Given the description of an element on the screen output the (x, y) to click on. 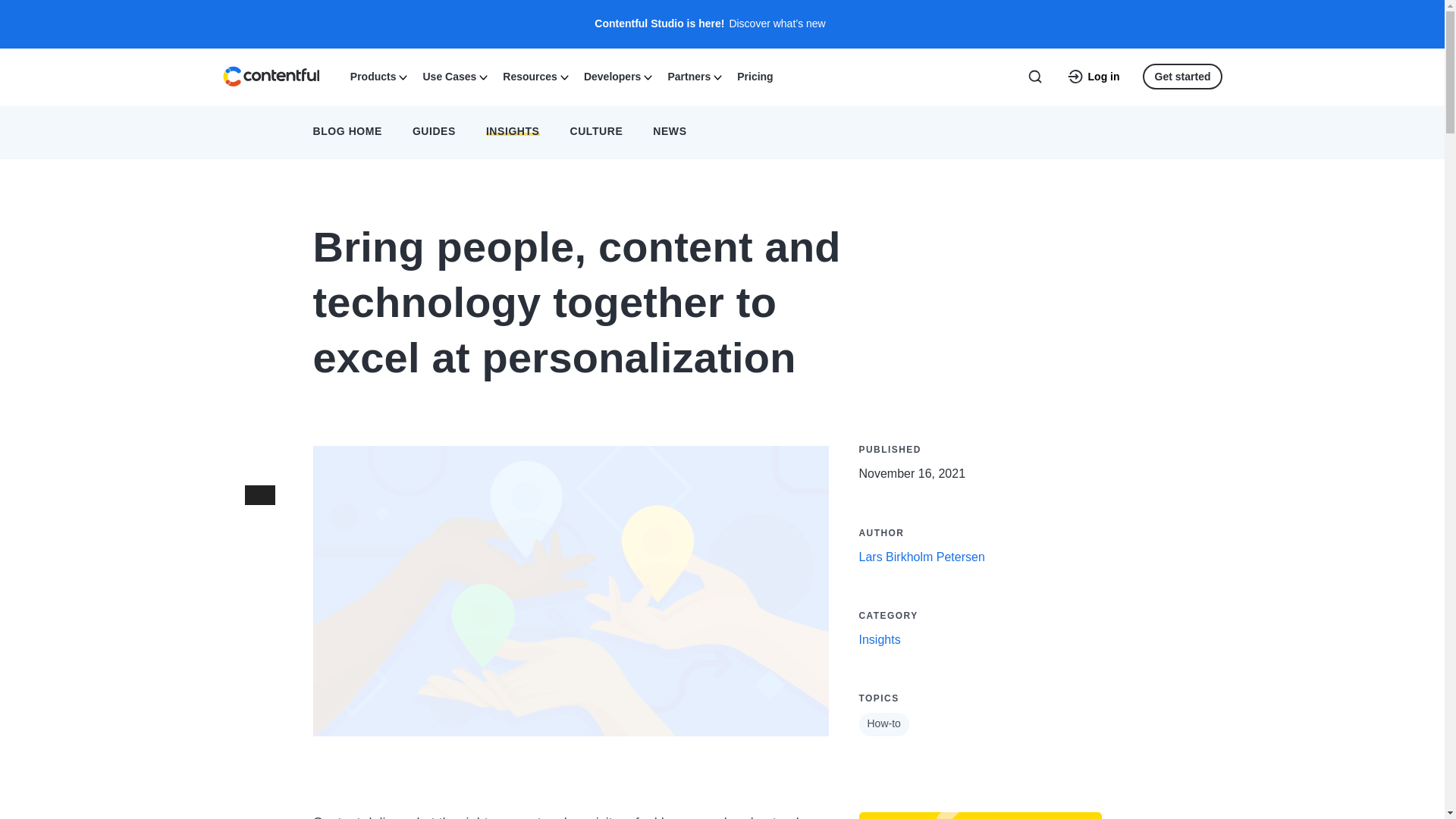
Pricing (754, 75)
Products (376, 75)
Developers (616, 75)
Get started (1182, 76)
Use Cases (453, 75)
Resources (534, 75)
Partners (693, 75)
Log in (1094, 76)
